Given the description of an element on the screen output the (x, y) to click on. 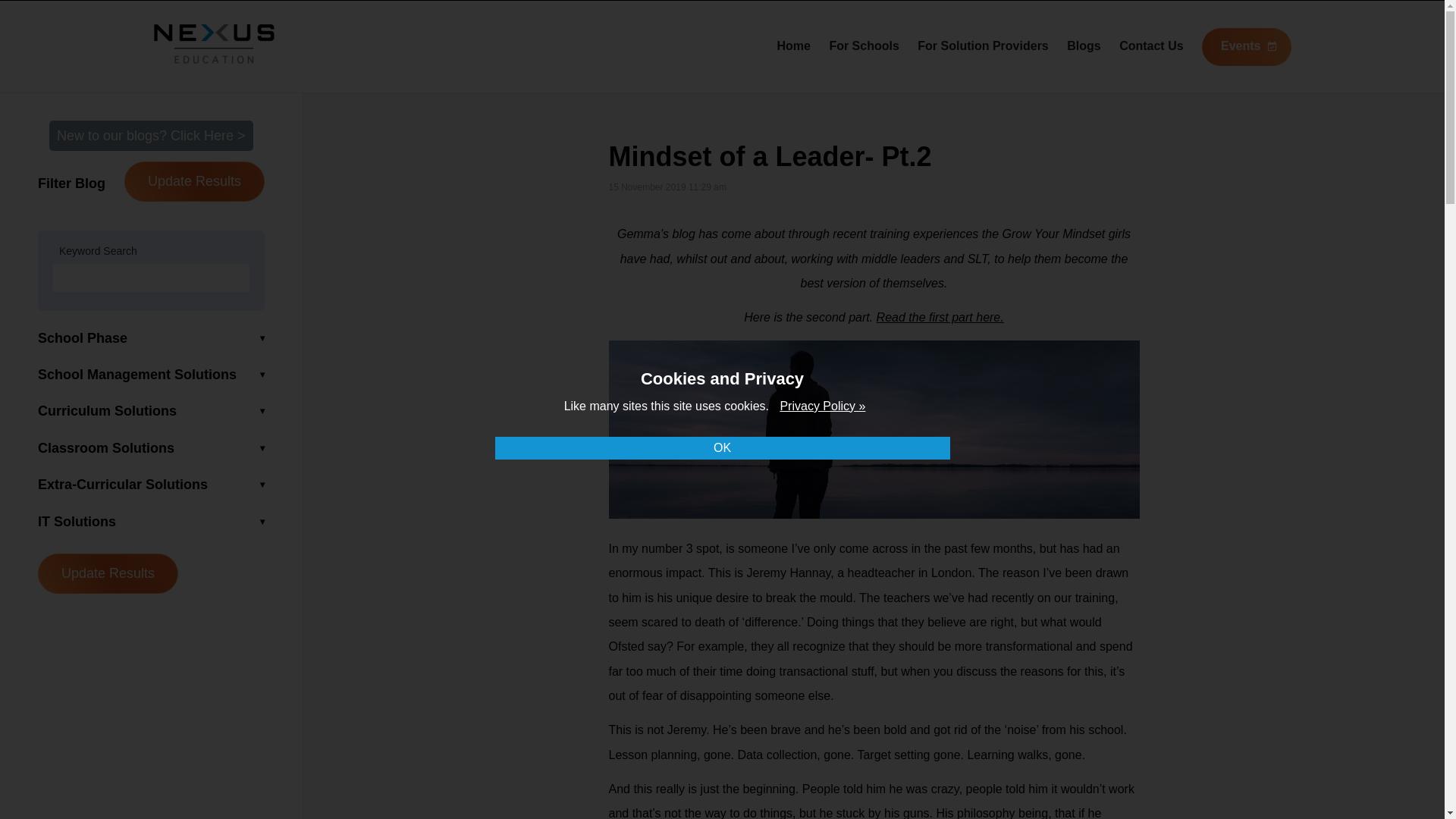
Blogs (1083, 46)
Events (1246, 46)
Update Results (193, 181)
Contact Us (1151, 46)
Home (792, 46)
Nexus Education (213, 43)
For Solution Providers (982, 46)
Cookie Notice (821, 405)
Update Results (107, 573)
For Schools (863, 46)
